Given the description of an element on the screen output the (x, y) to click on. 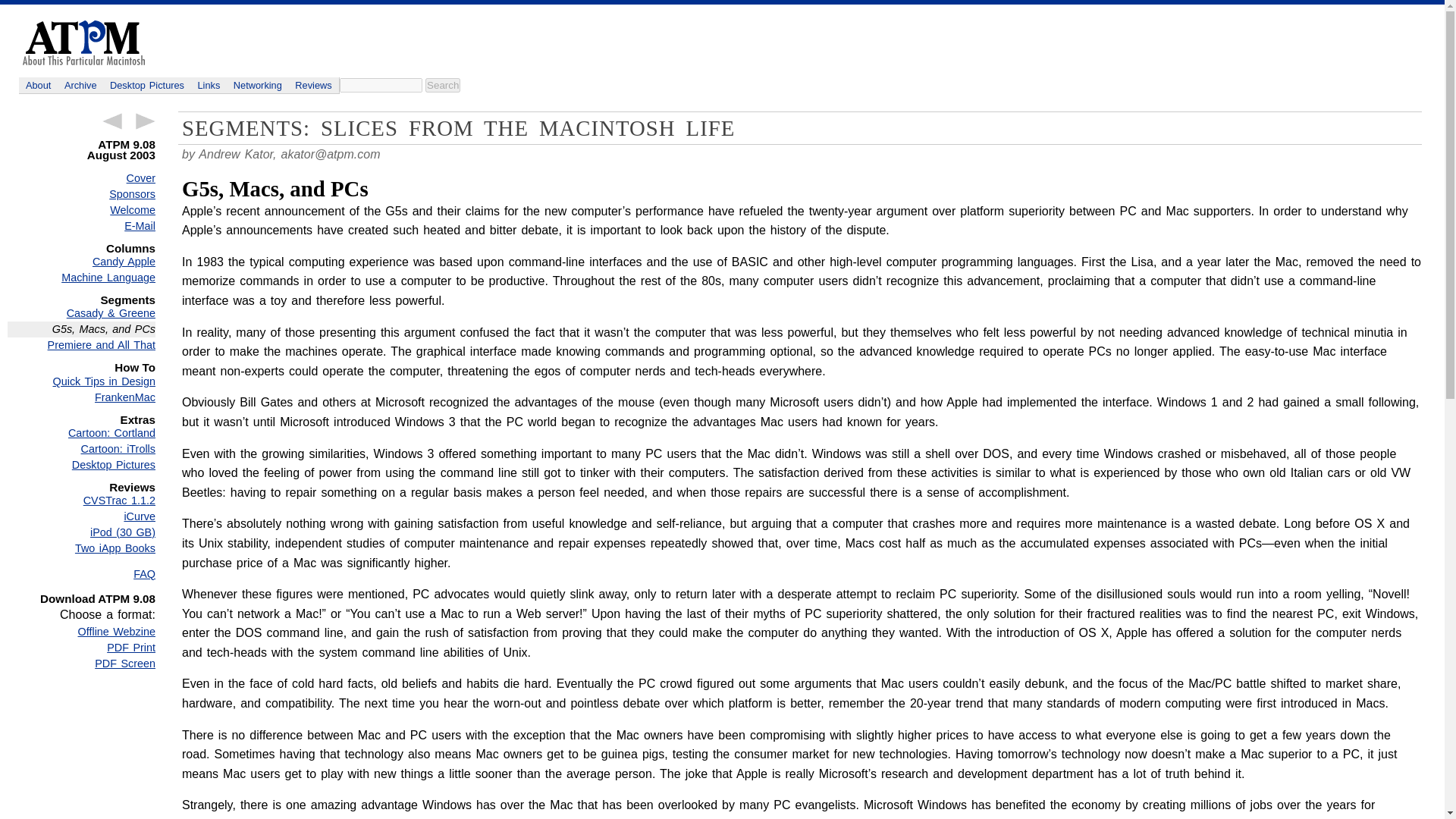
Machine Language (81, 277)
Cover (81, 178)
Wallpaper photos. (147, 84)
Quick Tips in Design (81, 381)
About (38, 84)
Search (442, 84)
Search (442, 84)
Reviews featured in ATPM organized by issue. (313, 84)
Links (209, 84)
Premiere and All That (81, 344)
